Given the description of an element on the screen output the (x, y) to click on. 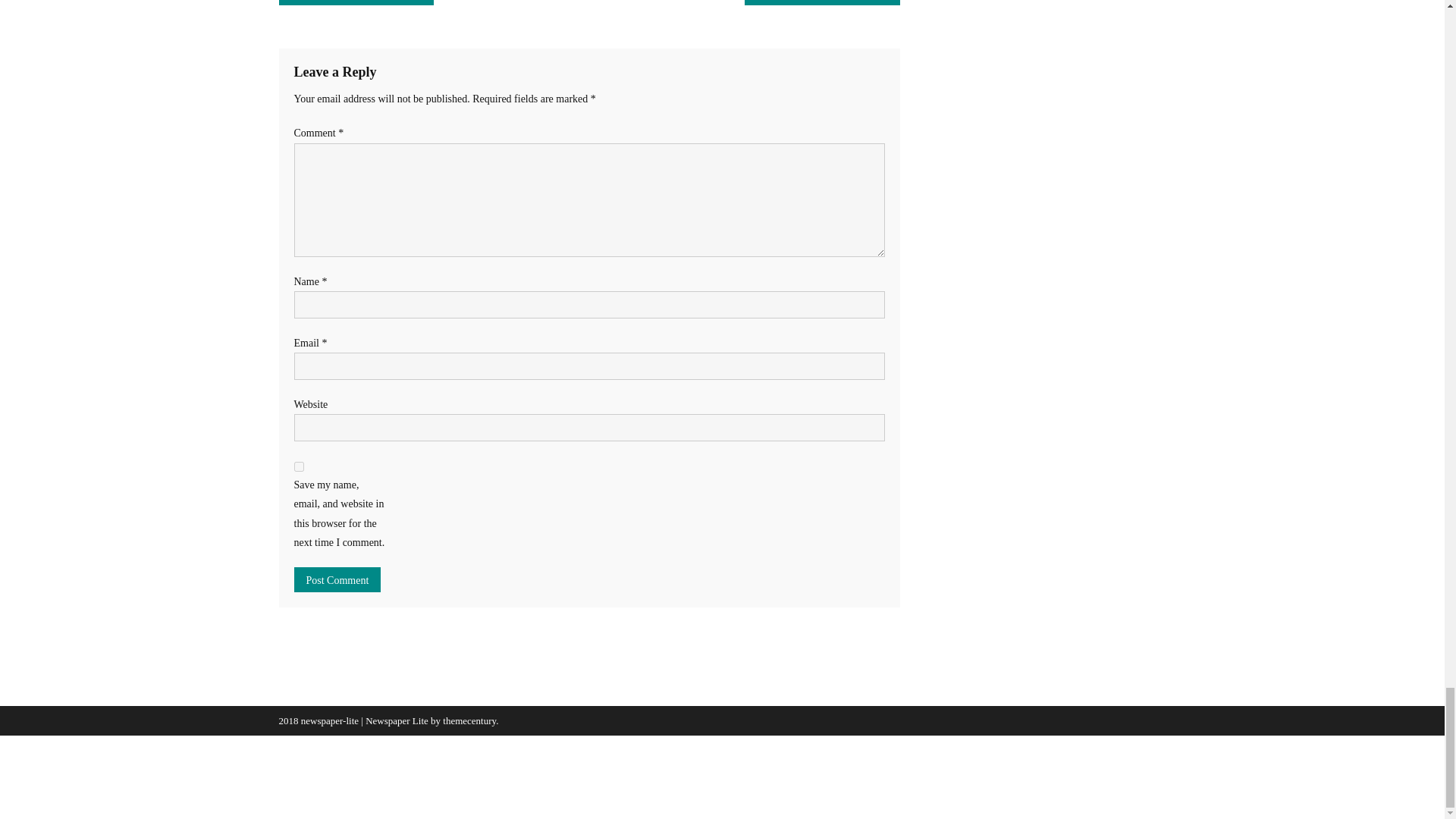
Tnpsc 2021 Annual Planner (356, 2)
Post Comment (337, 579)
Post Comment (337, 579)
yes (299, 466)
